Given the description of an element on the screen output the (x, y) to click on. 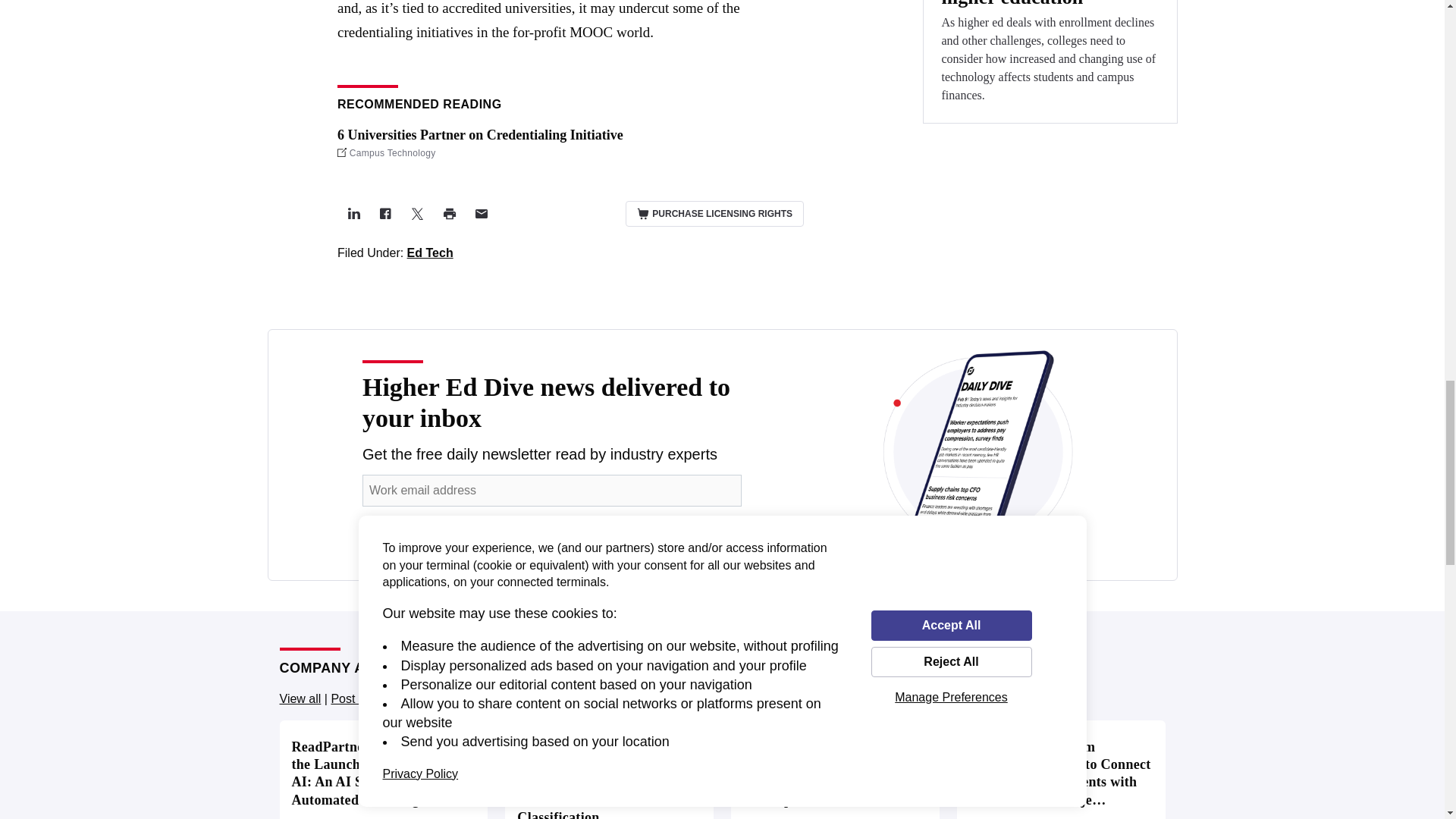
Share (385, 214)
Post (416, 214)
Post (353, 214)
Email (480, 214)
License (714, 213)
Print (448, 214)
